Given the description of an element on the screen output the (x, y) to click on. 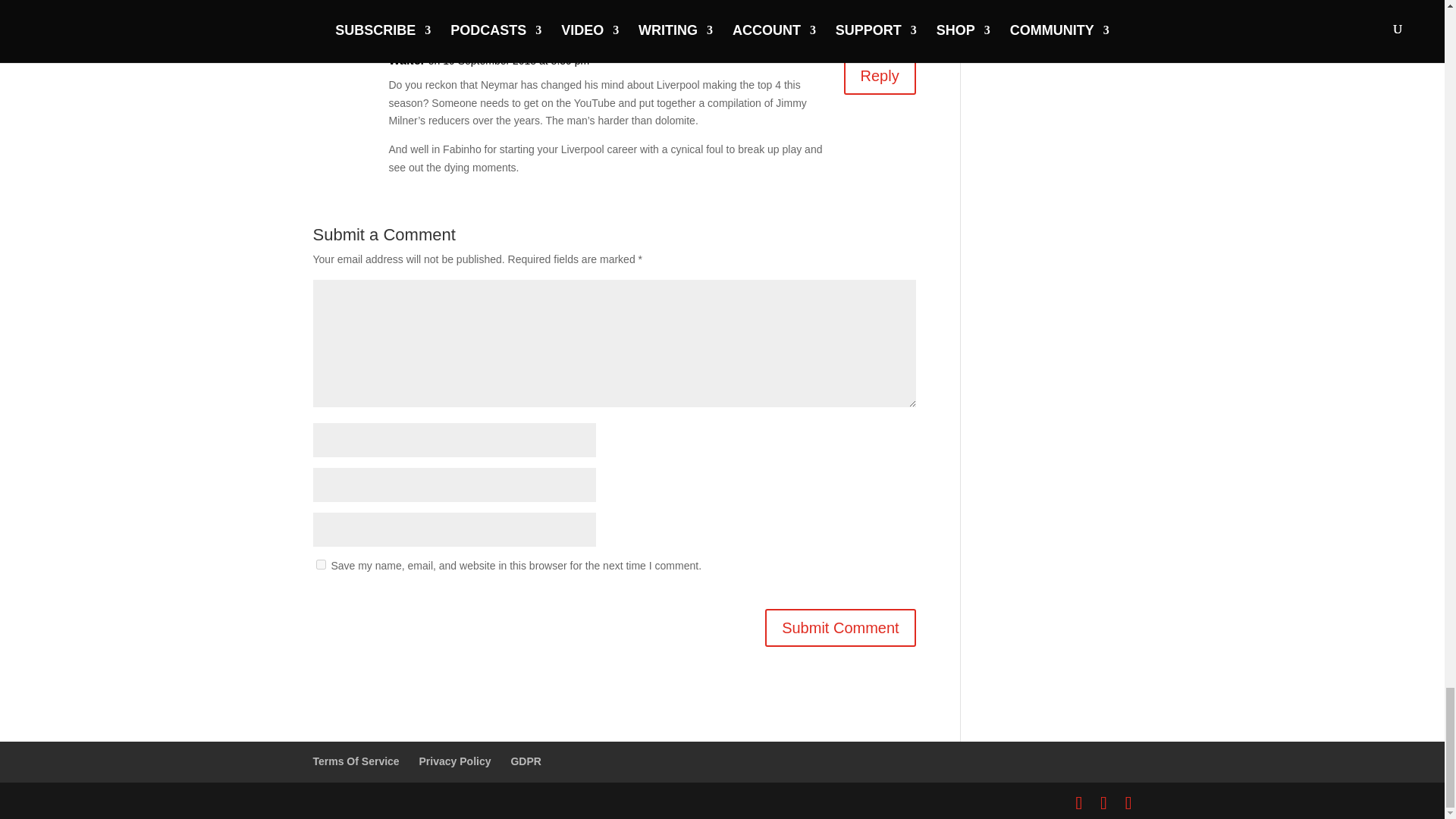
Submit Comment (840, 628)
yes (319, 564)
